Given the description of an element on the screen output the (x, y) to click on. 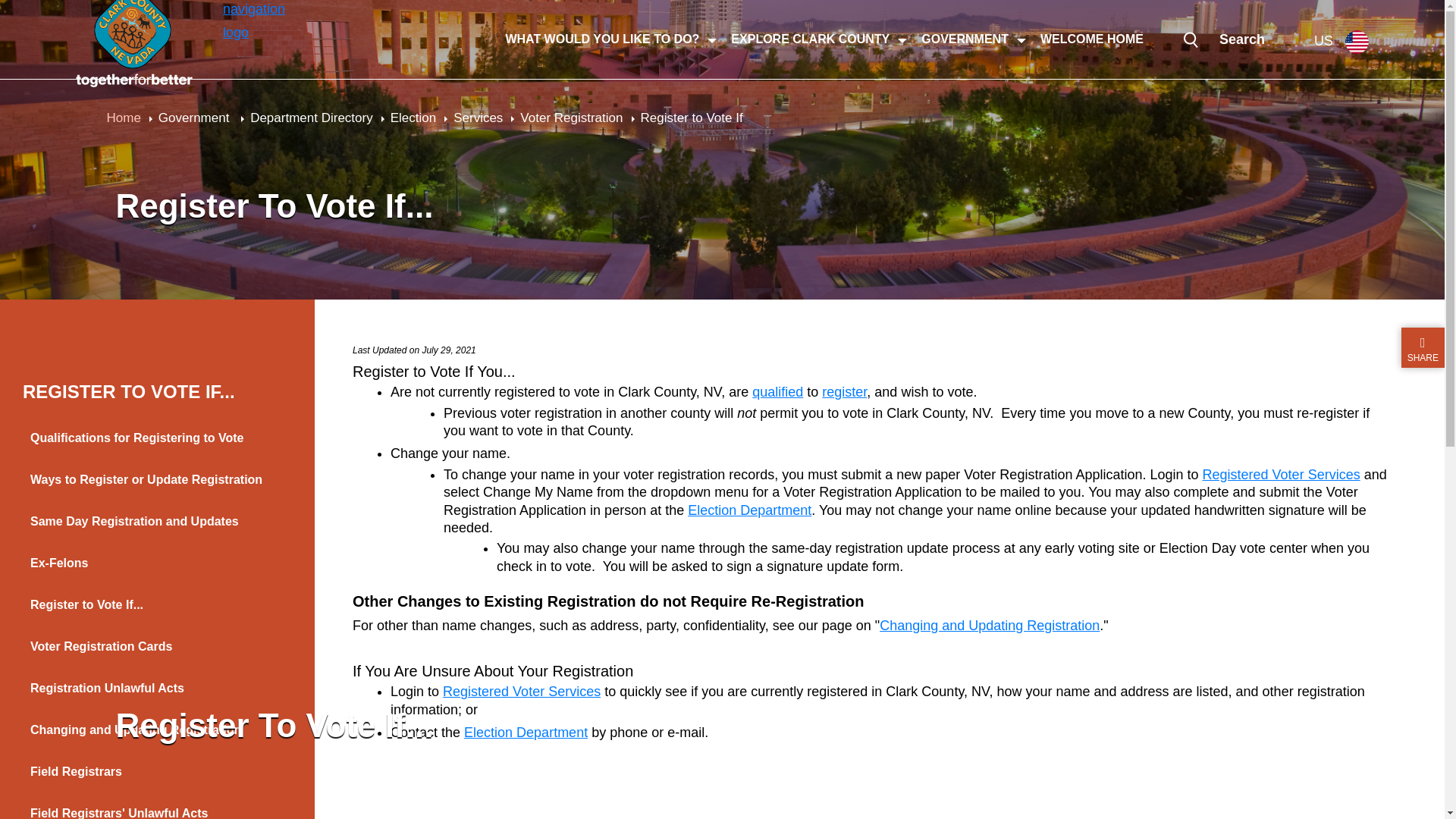
WHAT WOULD YOU LIKE TO DO? (601, 39)
